Given the description of an element on the screen output the (x, y) to click on. 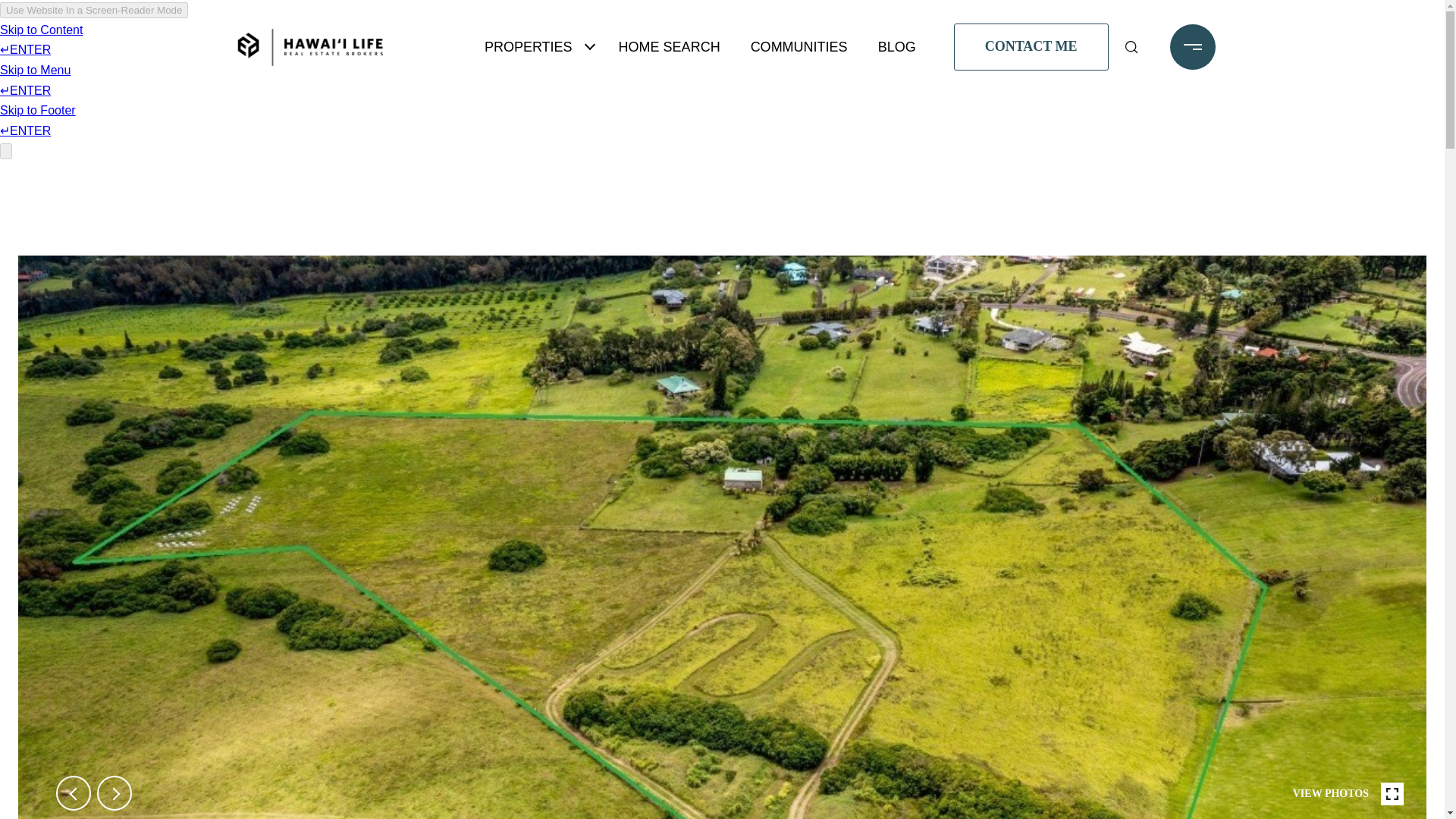
HOME SEARCH (669, 46)
PROPERTIES (528, 46)
BLOG (896, 46)
COMMUNITIES (799, 46)
CONTACT ME (1030, 46)
